Given the description of an element on the screen output the (x, y) to click on. 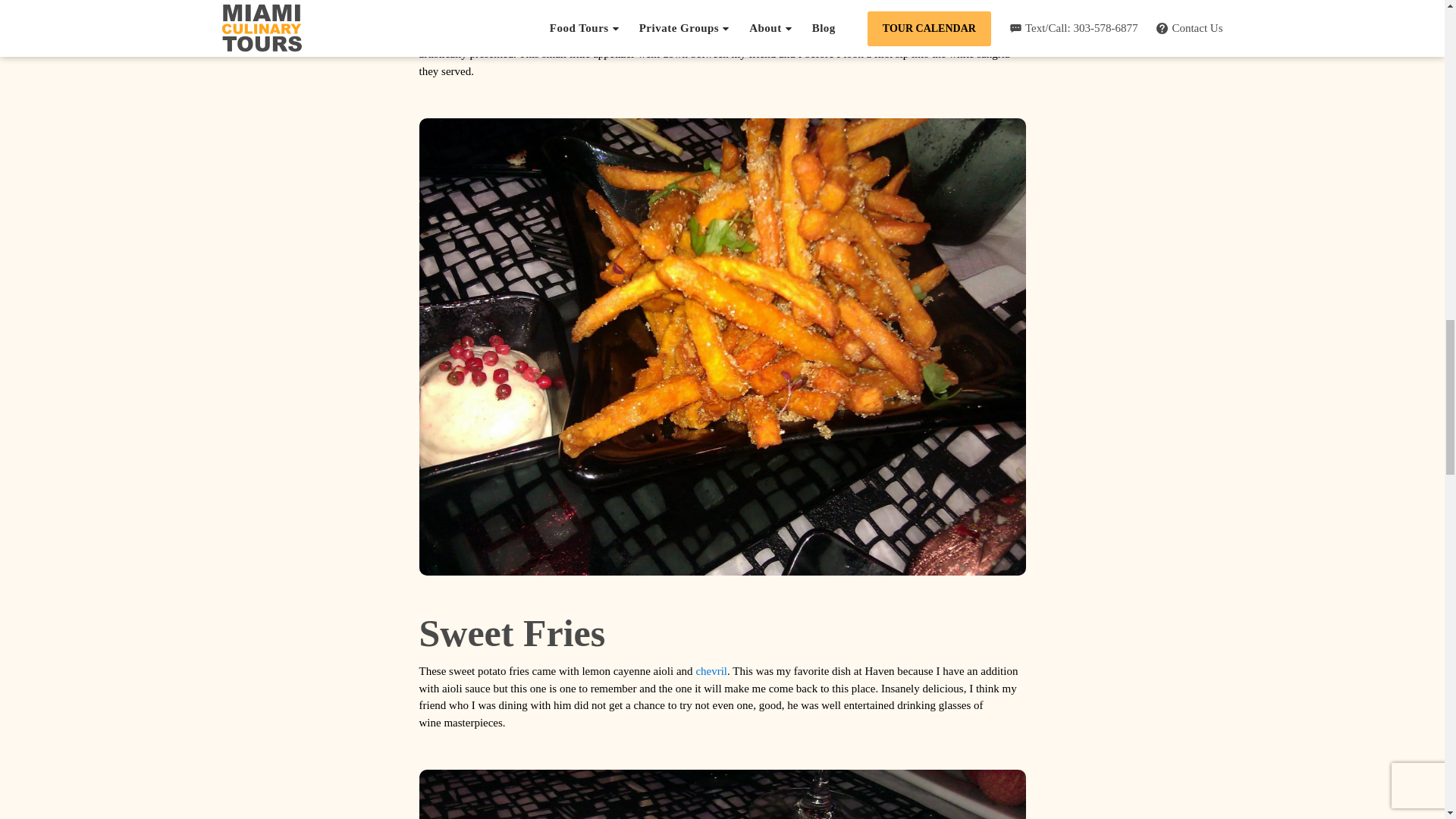
spicy tuna (722, 794)
chevril (710, 671)
